Given the description of an element on the screen output the (x, y) to click on. 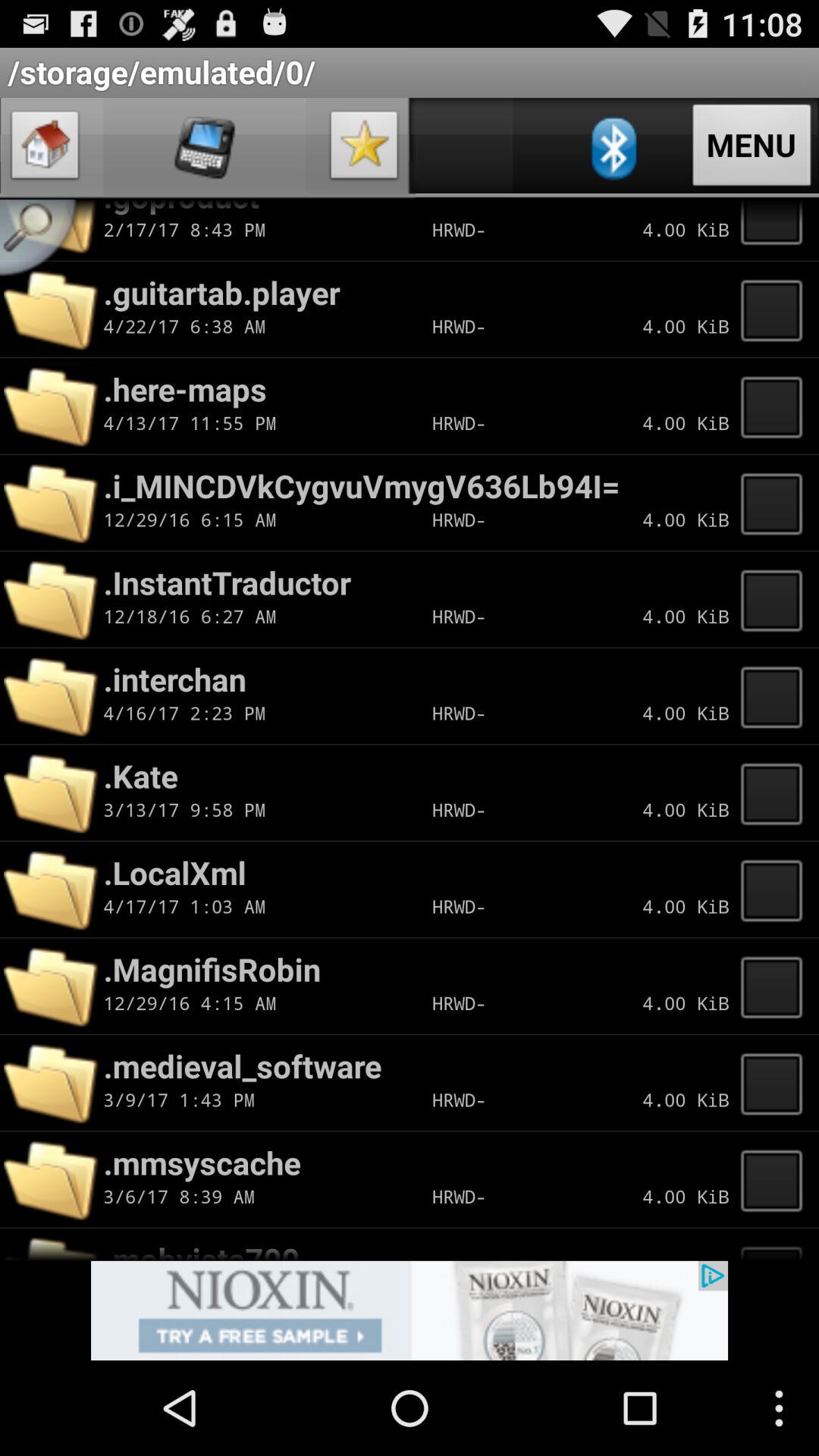
pick this file (776, 1082)
